Given the description of an element on the screen output the (x, y) to click on. 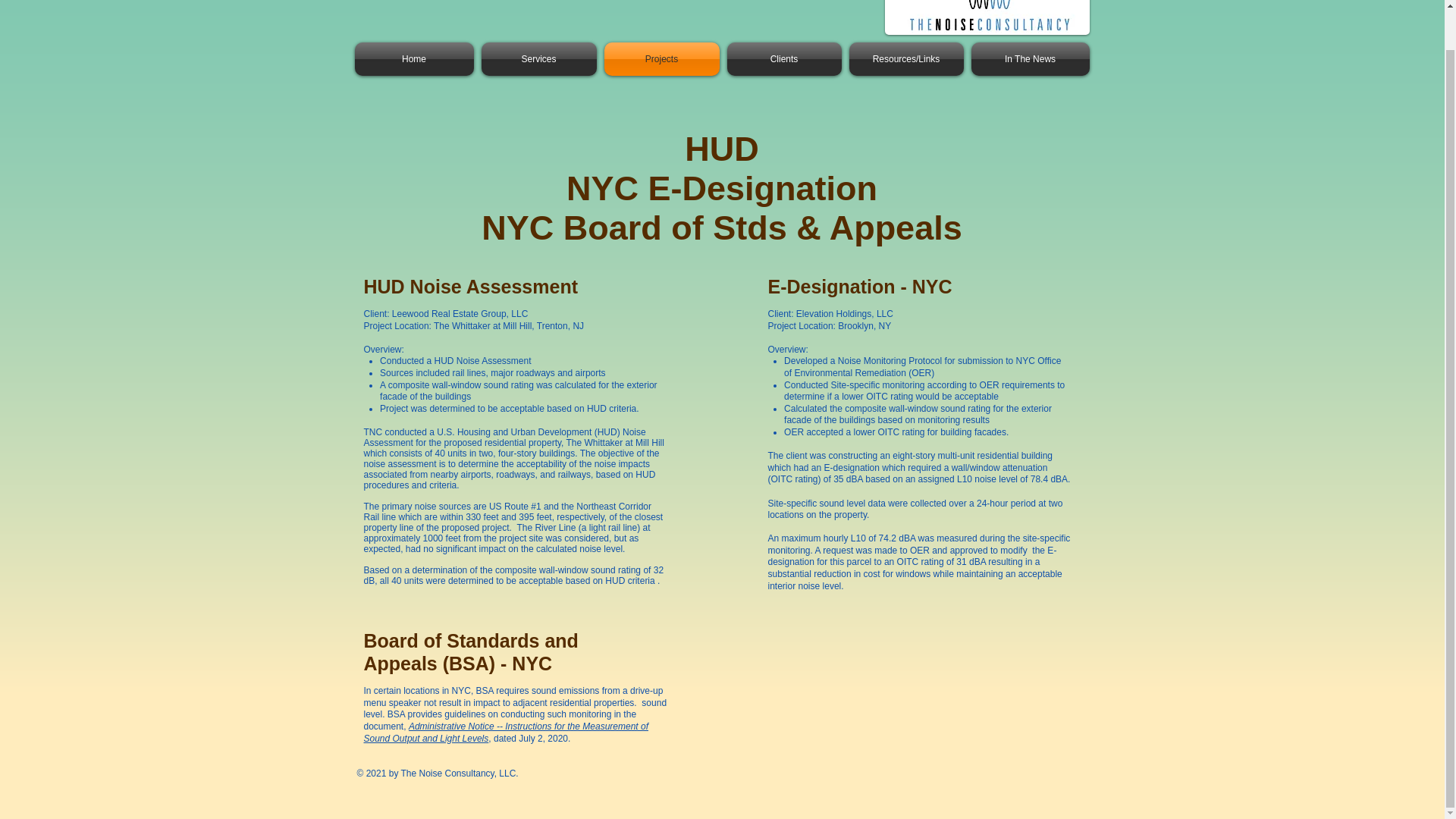
Clients (784, 59)
Services (538, 59)
In The News (1028, 59)
Home (416, 59)
Projects (661, 59)
